Given the description of an element on the screen output the (x, y) to click on. 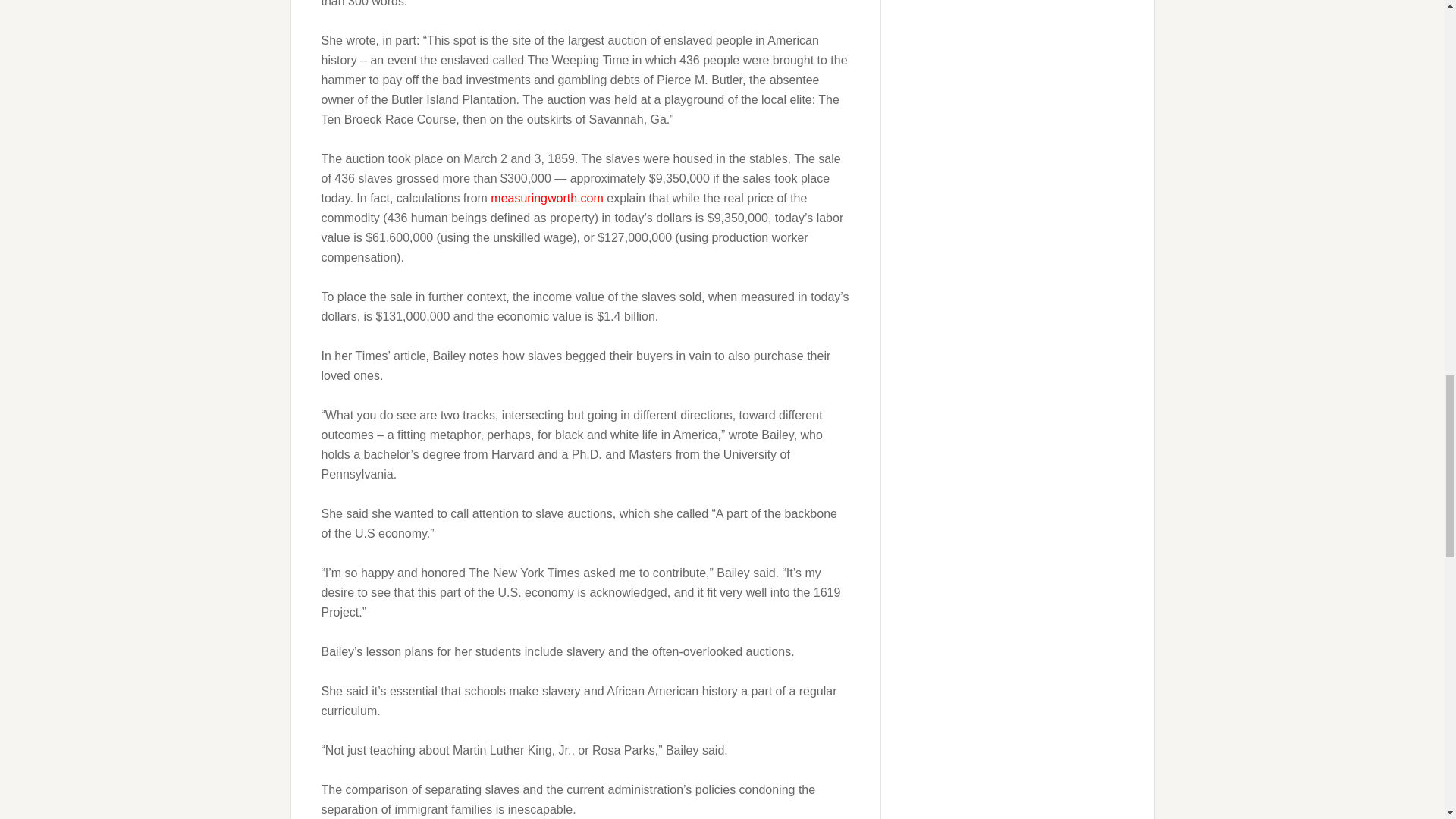
measuringworth.com (547, 197)
